Given the description of an element on the screen output the (x, y) to click on. 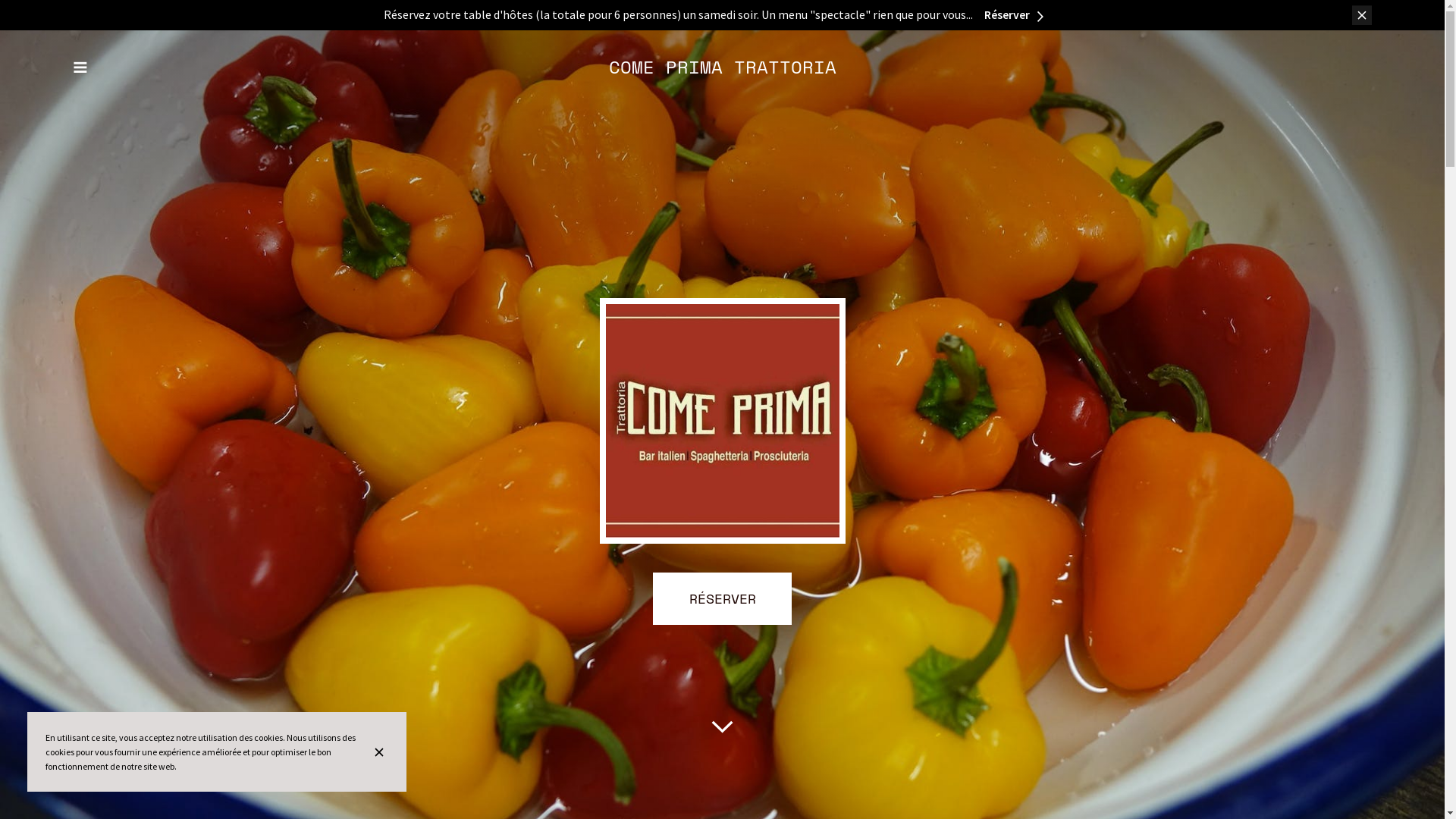
COME PRIMA TRATTORIA
COME PRIMA TRATTORIA Element type: text (721, 67)
